Given the description of an element on the screen output the (x, y) to click on. 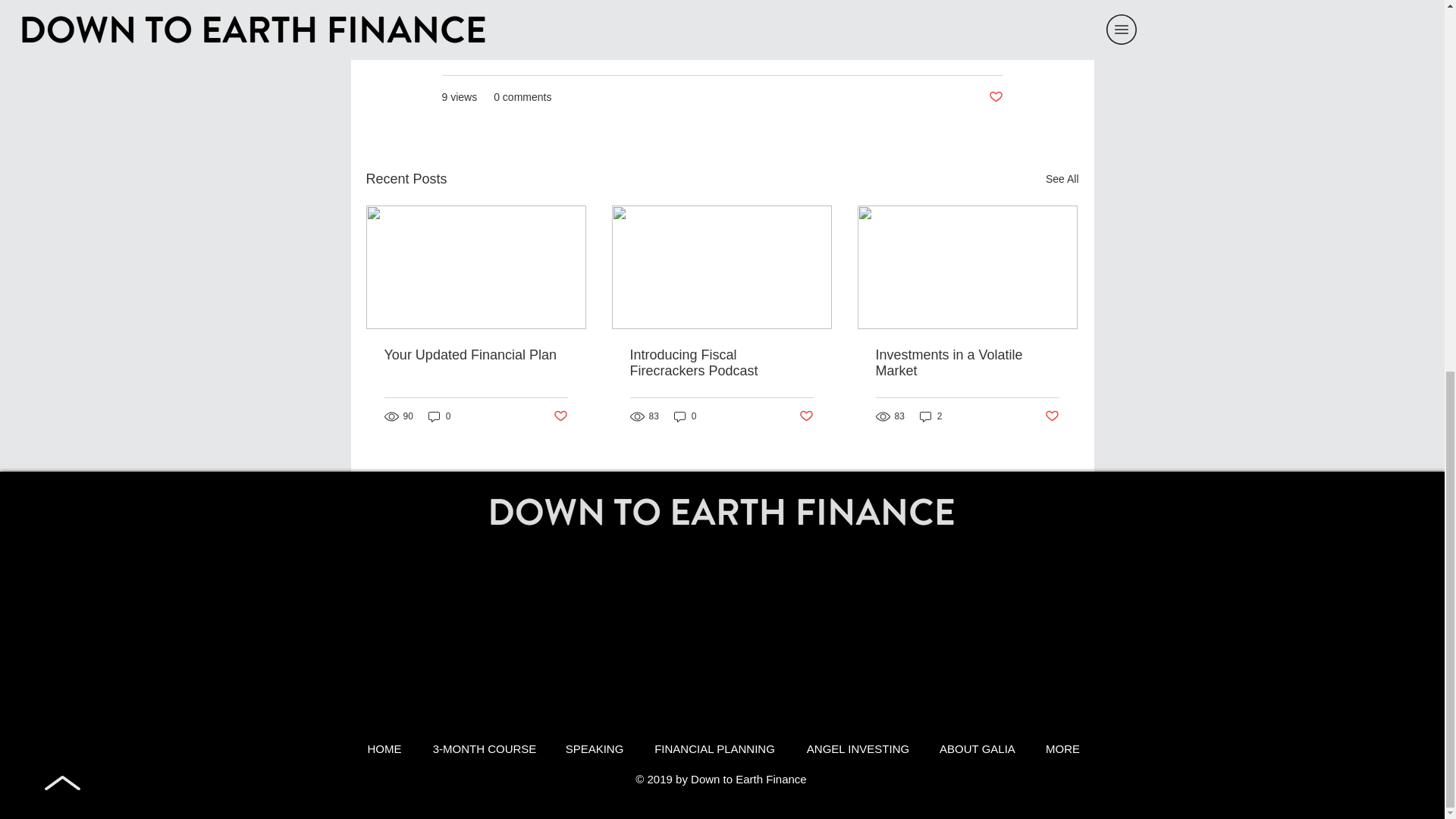
Post not marked as liked (1052, 416)
Post not marked as liked (560, 416)
Introducing Fiscal Firecrackers Podcast (720, 363)
Investments in a Volatile Market (966, 363)
Post not marked as liked (995, 97)
0 (439, 416)
See All (1061, 179)
HOME (384, 749)
Post not marked as liked (806, 416)
SPEAKING (593, 749)
Your Updated Financial Plan (475, 355)
3-MONTH COURSE (483, 749)
2 (930, 416)
FINANCIAL PLANNING (713, 749)
0 (685, 416)
